Given the description of an element on the screen output the (x, y) to click on. 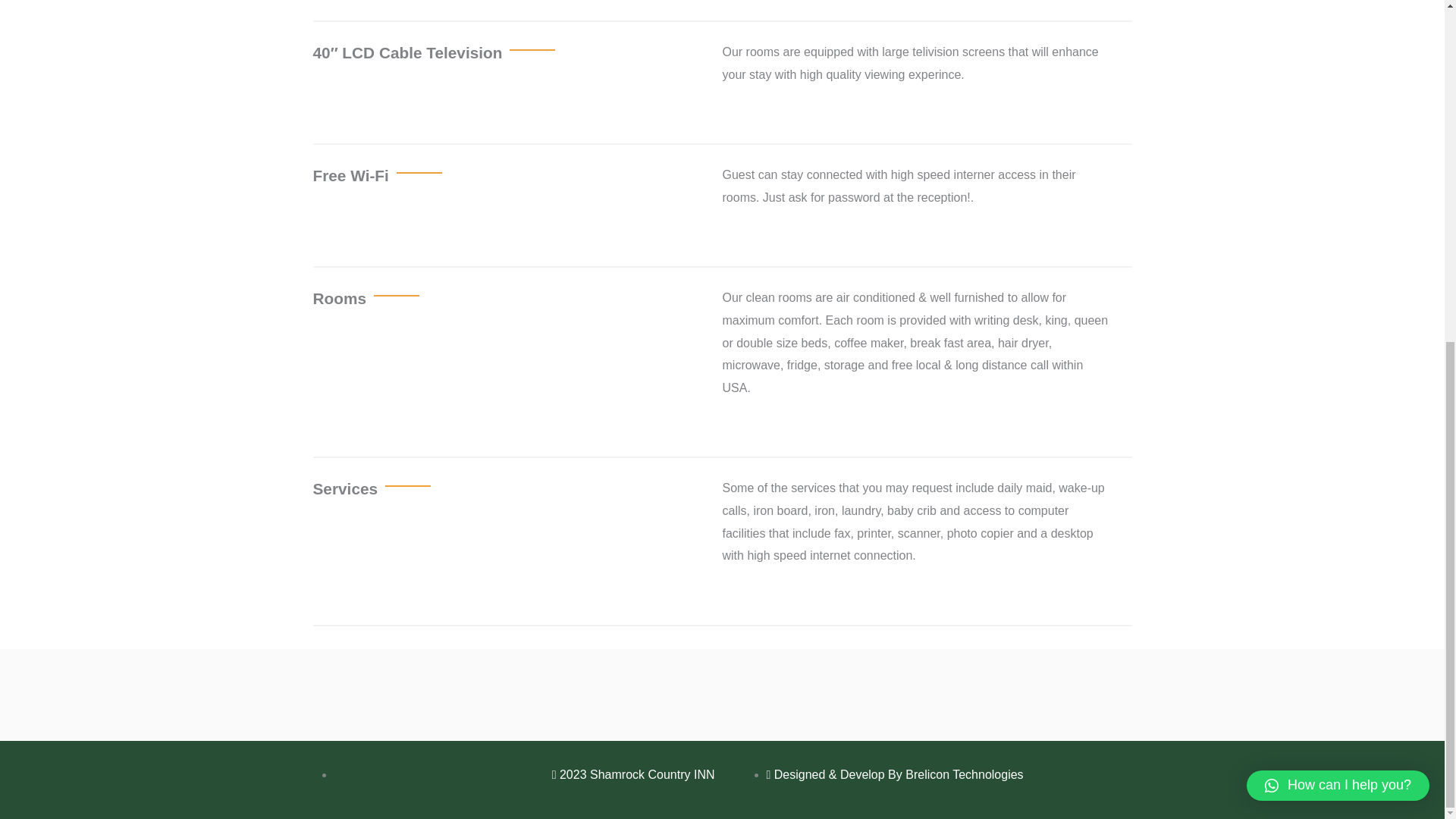
How can I help you? (1337, 203)
